Given the description of an element on the screen output the (x, y) to click on. 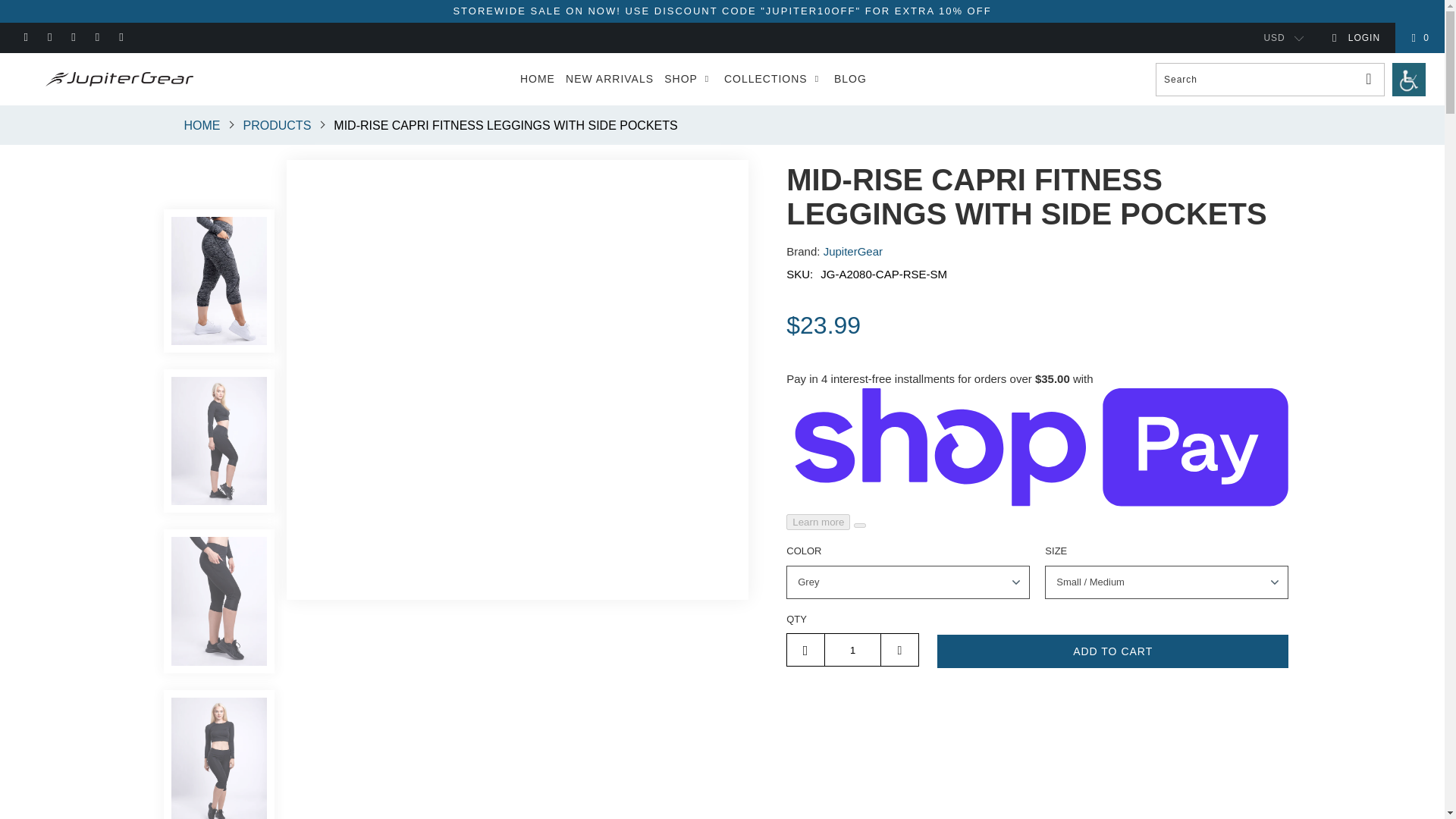
Jupiter Gear on YouTube (73, 37)
JupiterGear (853, 250)
My Account  (1355, 37)
Jupiter Gear (201, 124)
Jupiter Gear (115, 79)
Jupiter Gear on Facebook (25, 37)
Products (278, 124)
Jupiter Gear on Instagram (48, 37)
Jupiter Gear on Pinterest (96, 37)
1 (852, 649)
Jupiter Gear on Twitter (121, 37)
